Given the description of an element on the screen output the (x, y) to click on. 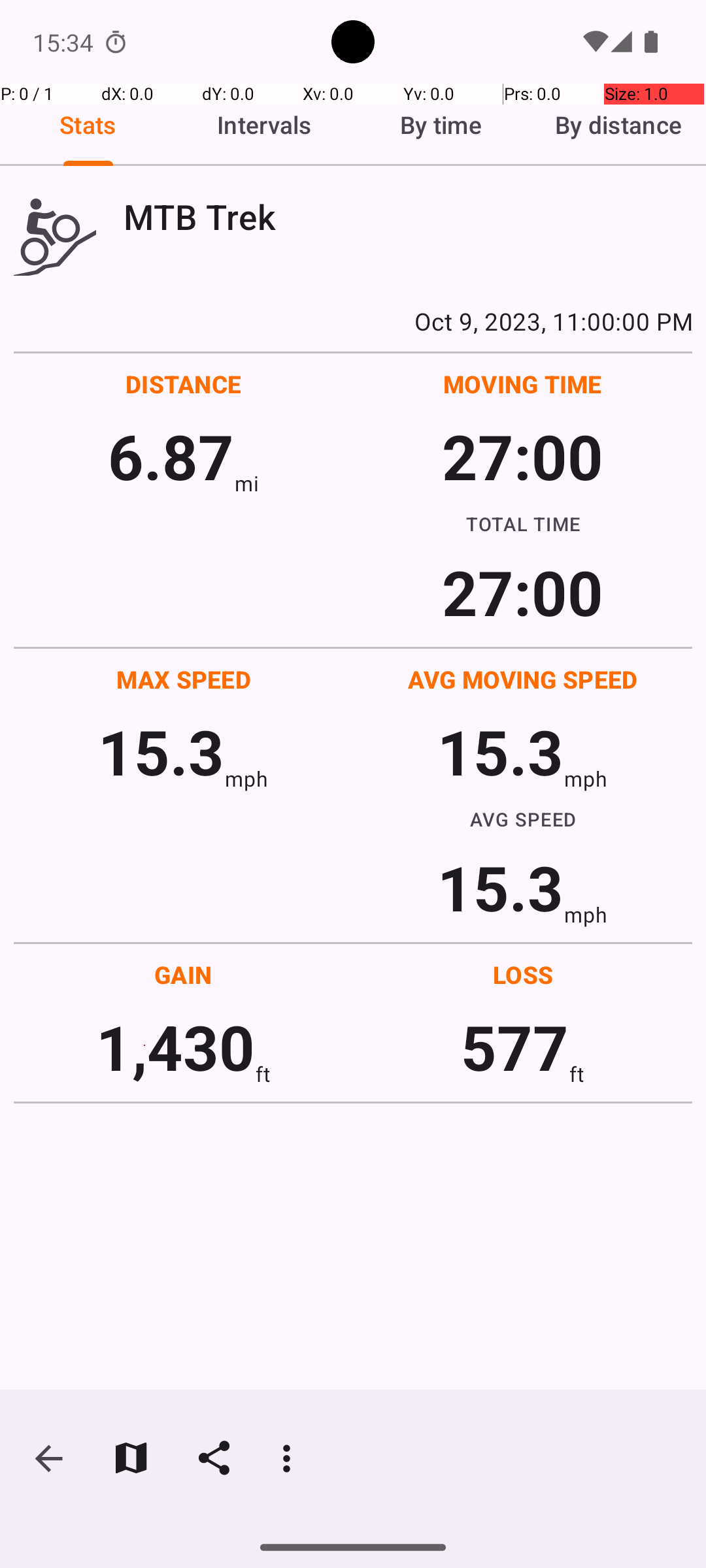
MTB Trek Element type: android.widget.TextView (407, 216)
Oct 9, 2023, 11:00:00 PM Element type: android.widget.TextView (352, 320)
6.87 Element type: android.widget.TextView (170, 455)
27:00 Element type: android.widget.TextView (522, 455)
15.3 Element type: android.widget.TextView (161, 750)
1,430 Element type: android.widget.TextView (175, 1045)
577 Element type: android.widget.TextView (514, 1045)
